Given the description of an element on the screen output the (x, y) to click on. 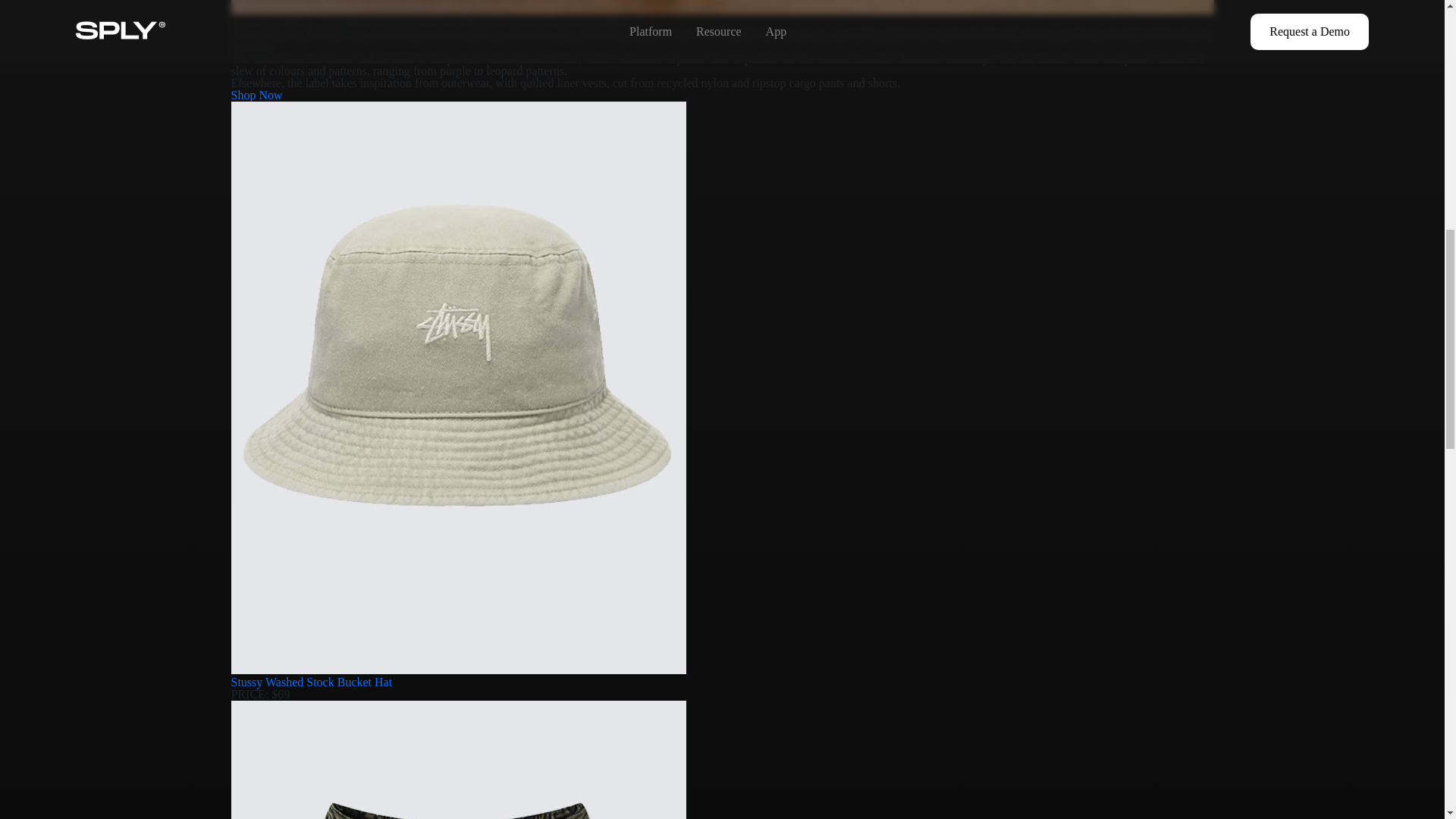
Shop Now (256, 94)
Stussy Washed Stock Bucket Hat (310, 681)
